Given the description of an element on the screen output the (x, y) to click on. 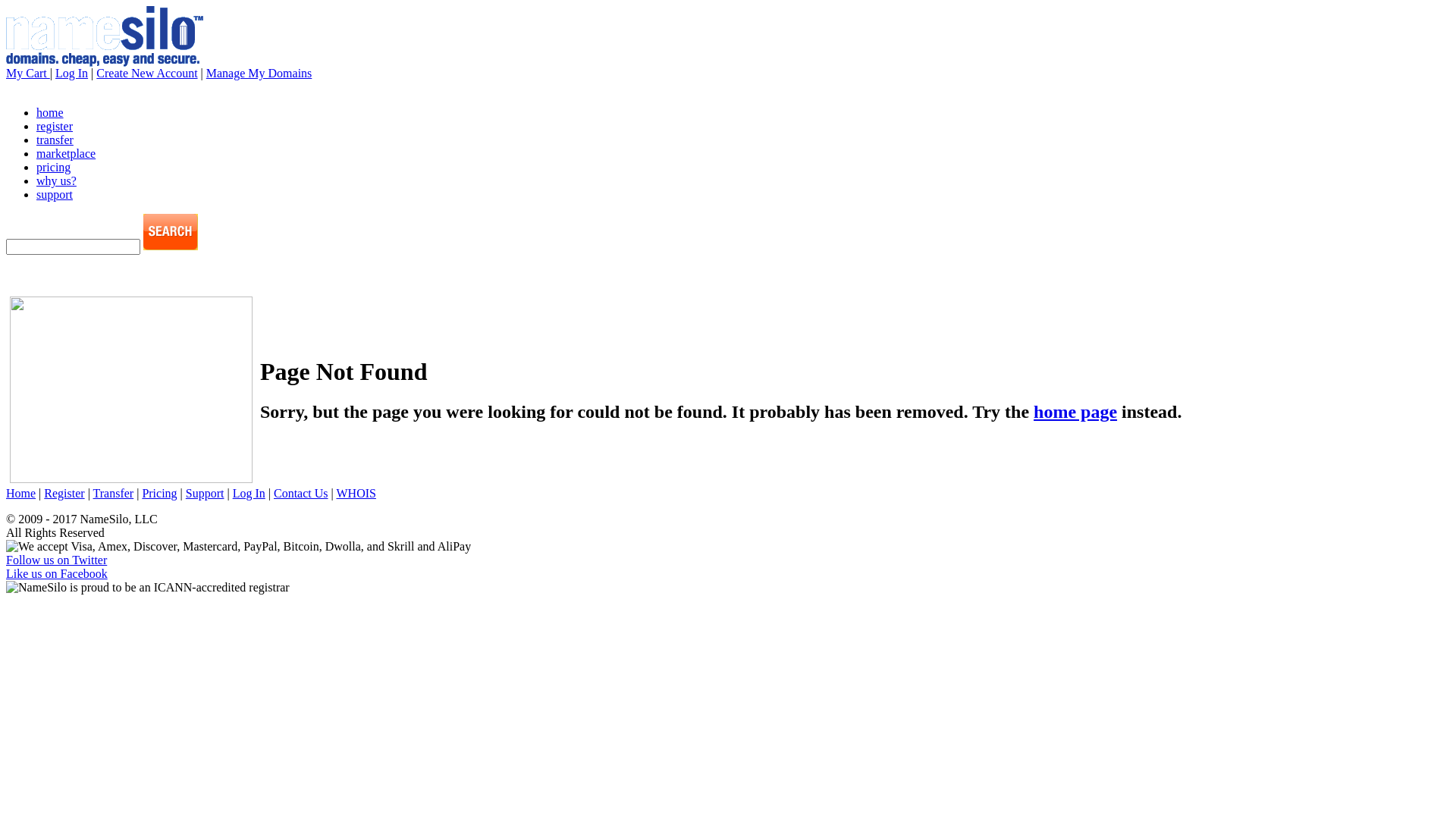
why us? Element type: text (56, 180)
Manage My Domains Element type: text (259, 72)
Contact Us Element type: text (300, 492)
marketplace Element type: text (65, 153)
Create New Account Element type: text (146, 72)
transfer Element type: text (54, 139)
pricing Element type: text (53, 166)
Like us on Facebook Element type: text (56, 573)
Home Element type: text (20, 492)
NameSilo is proud to be an ICANN-accredited registrar Element type: hover (147, 587)
Log In Element type: text (248, 492)
Transfer Element type: text (113, 492)
home page Element type: text (1075, 411)
Follow us on Twitter Element type: text (56, 559)
My Cart Element type: text (28, 72)
Register Element type: text (63, 492)
Log In Element type: text (71, 72)
home Element type: text (49, 112)
WHOIS Element type: text (355, 492)
Support Element type: text (204, 492)
register Element type: text (54, 125)
support Element type: text (54, 194)
Pricing Element type: text (158, 492)
